Given the description of an element on the screen output the (x, y) to click on. 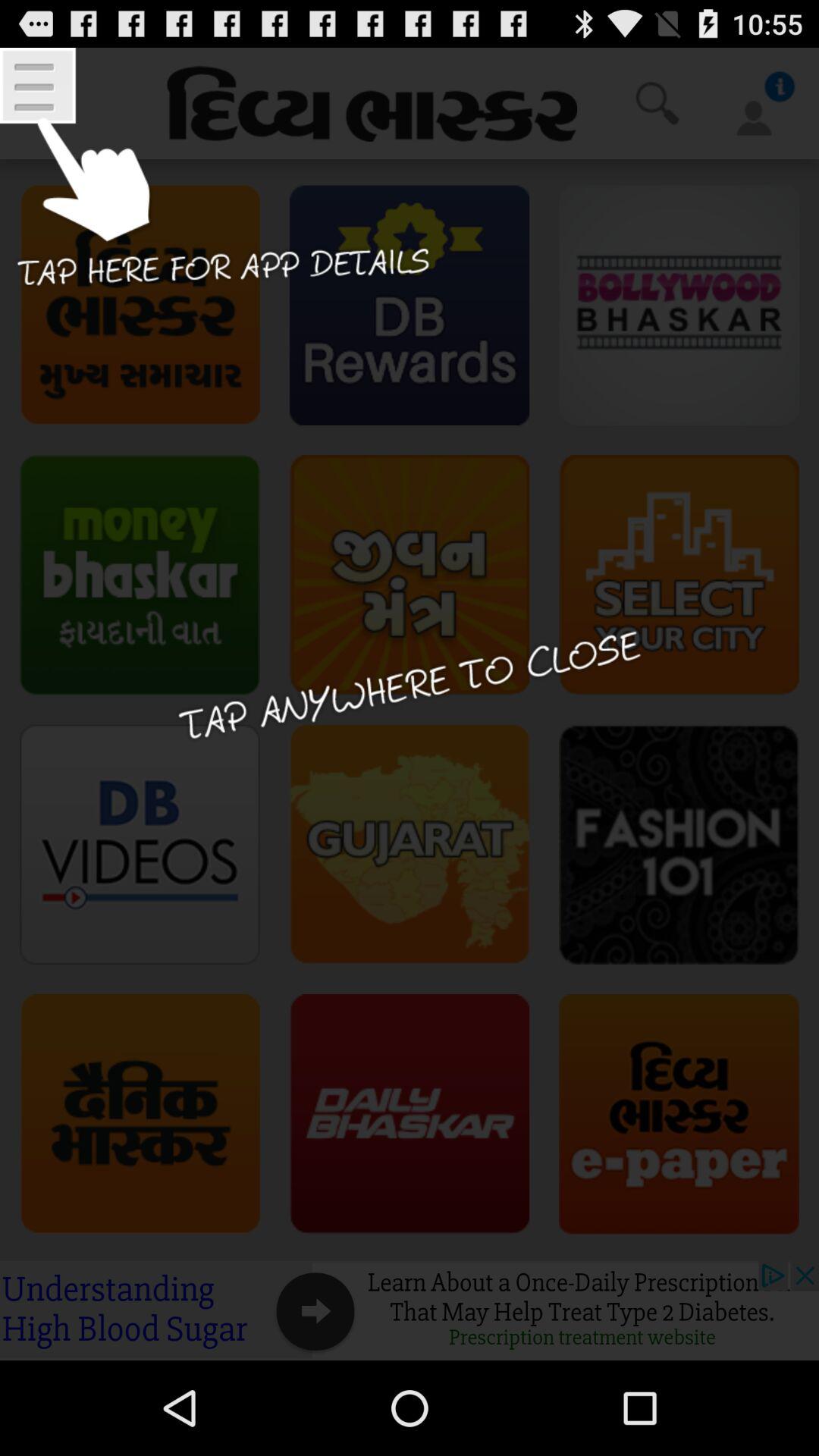
tap for app details (216, 187)
